Given the description of an element on the screen output the (x, y) to click on. 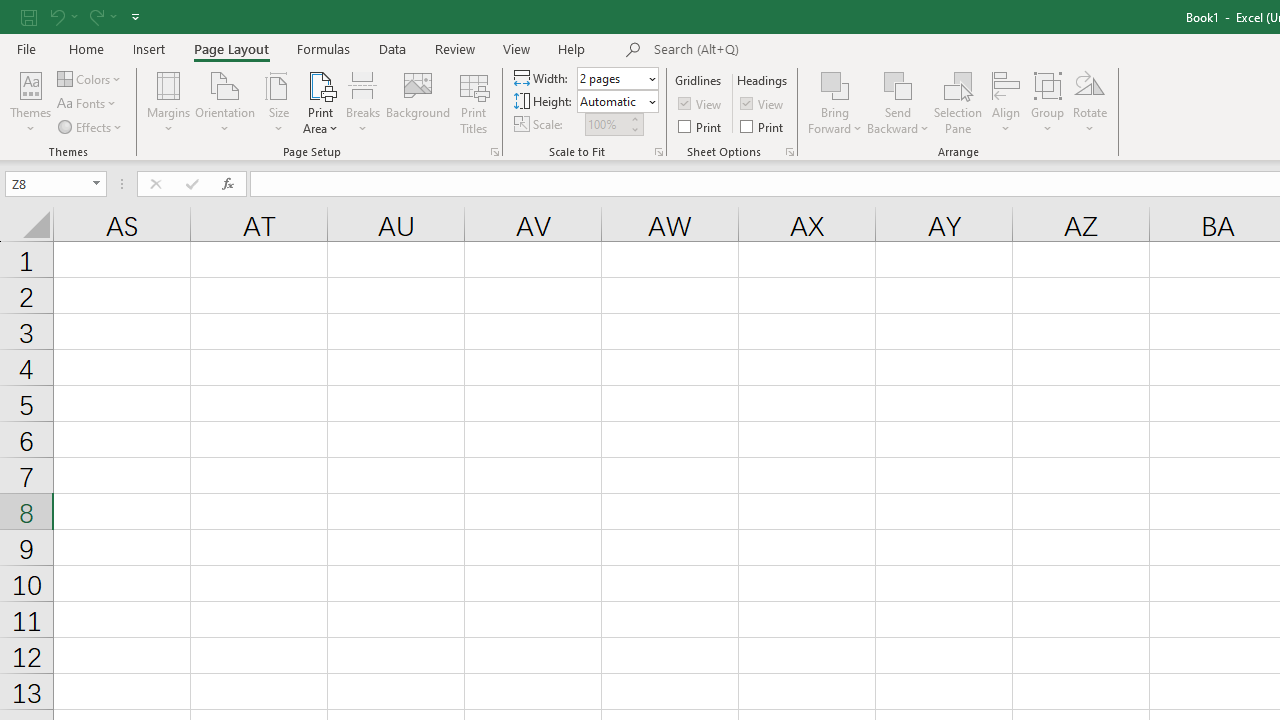
Data (392, 48)
Align (1005, 102)
Size (278, 102)
Redo (95, 15)
More Options (898, 121)
Name Box (56, 183)
Customize Quick Access Toolbar (135, 15)
Undo (62, 15)
Print (763, 126)
Less (633, 129)
Redo (102, 15)
Formulas (323, 48)
Breaks (362, 102)
Fonts (87, 103)
Selection Pane... (958, 102)
